Given the description of an element on the screen output the (x, y) to click on. 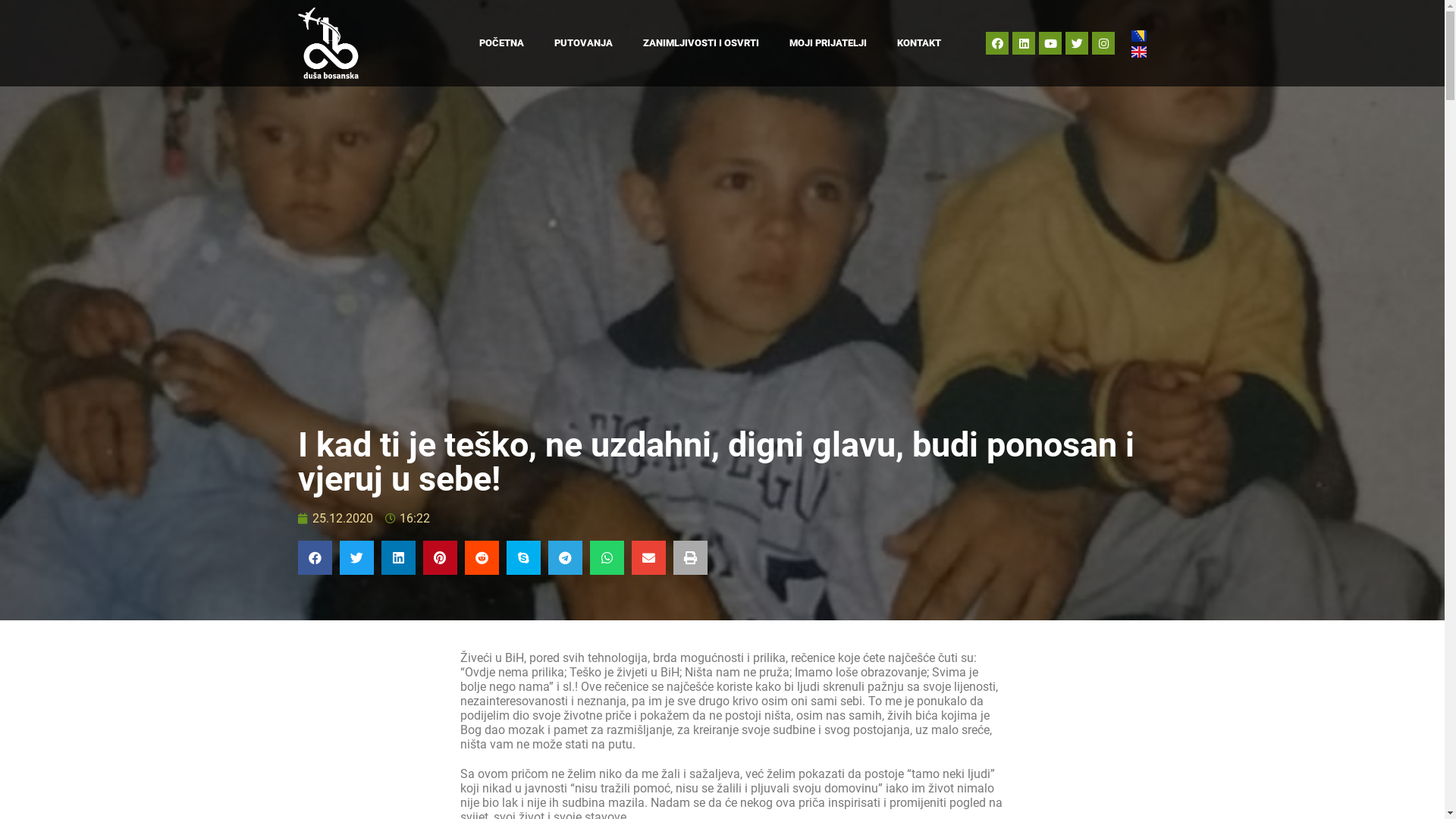
MOJI PRIJATELJI Element type: text (827, 42)
KONTAKT Element type: text (918, 42)
25.12.2020 Element type: text (334, 518)
ZANIMLJIVOSTI I OSVRTI Element type: text (700, 42)
PUTOVANJA Element type: text (582, 42)
